Given the description of an element on the screen output the (x, y) to click on. 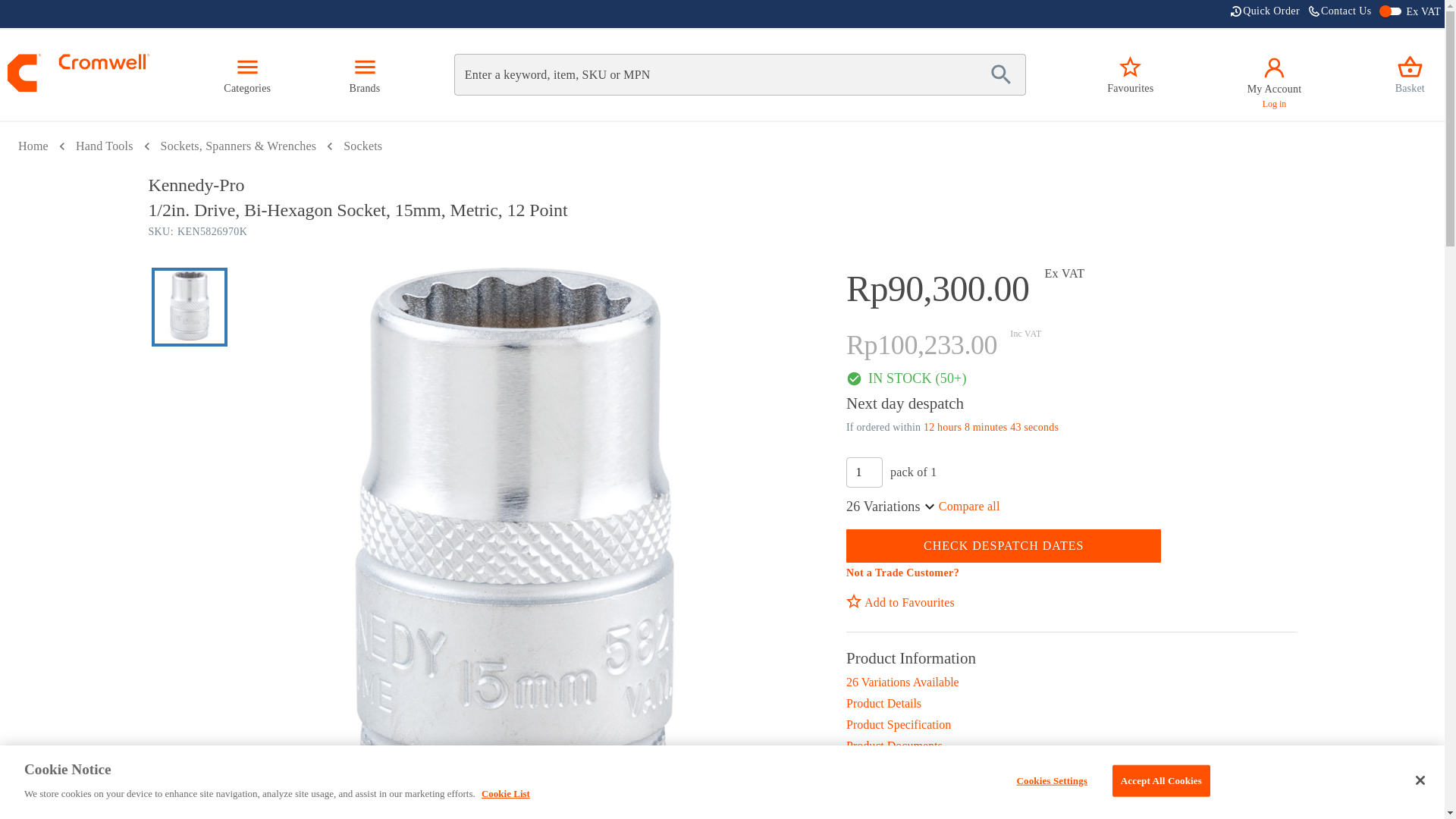
Not a Trade Customer? (902, 572)
Product Details (1071, 703)
Alternative Products (1071, 767)
Compare all (969, 505)
Sockets (1274, 75)
26 Variations Available (362, 145)
Categories (1071, 681)
Kennedy-Pro (247, 74)
Contact Us (721, 184)
Hand Tools (1339, 14)
Quick Order (104, 145)
1 (1265, 14)
Favourites (863, 472)
Product Documents (1130, 74)
